Given the description of an element on the screen output the (x, y) to click on. 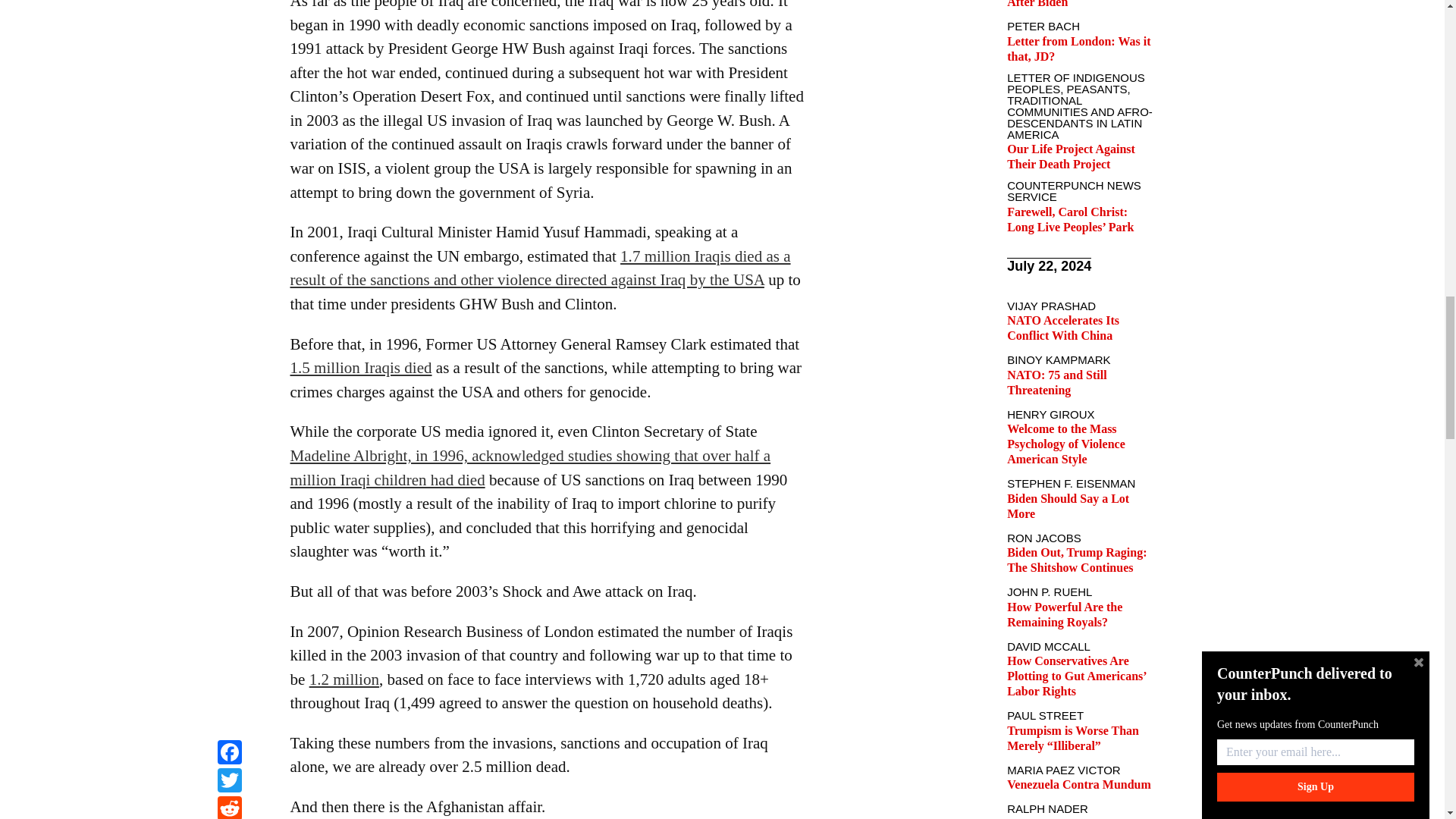
1.2 million (343, 679)
1.5 million Iraqis died (359, 367)
